Given the description of an element on the screen output the (x, y) to click on. 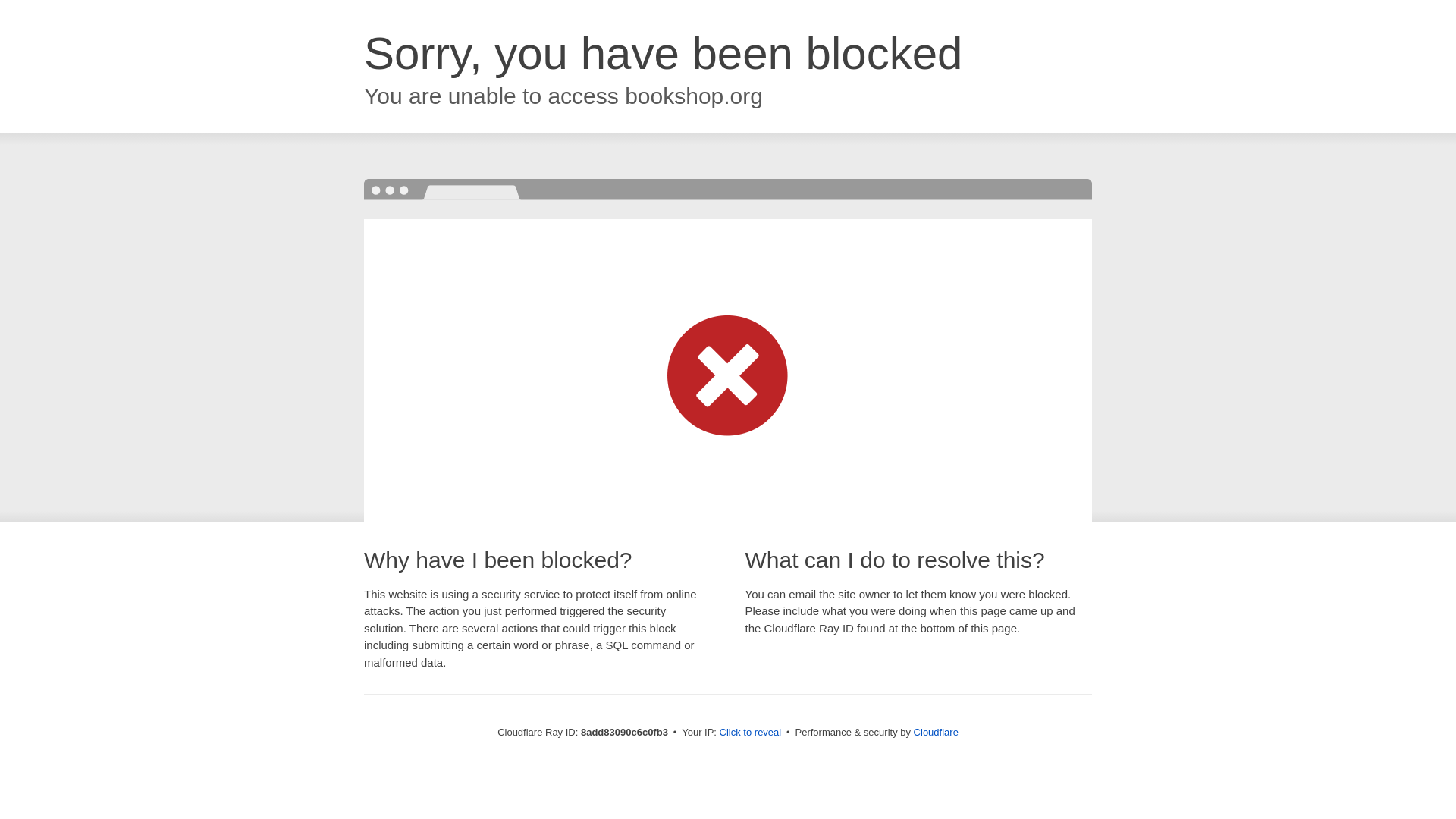
Cloudflare (936, 731)
Click to reveal (750, 732)
